Given the description of an element on the screen output the (x, y) to click on. 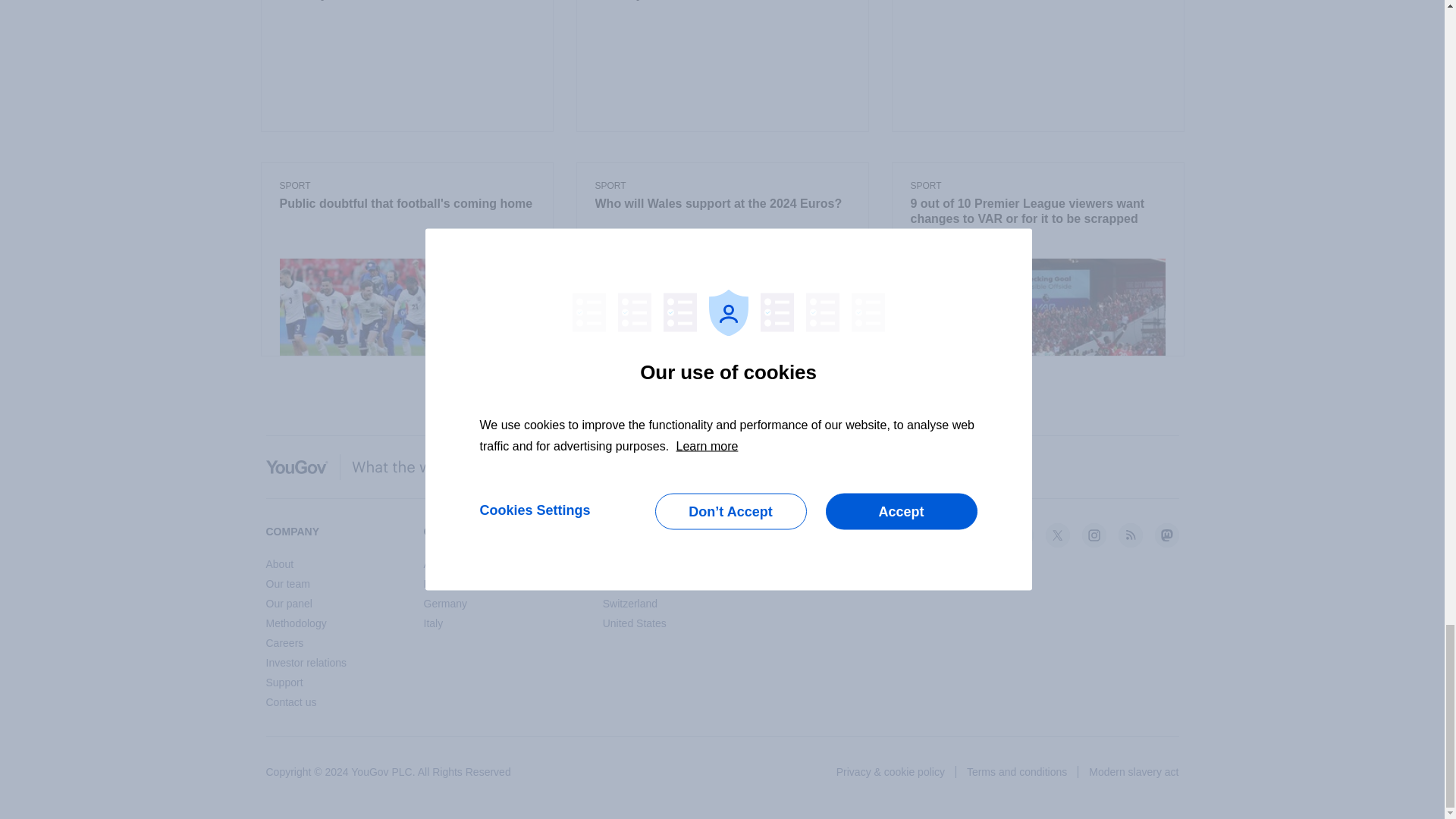
Who will Wales support at the 2024 Euros? (721, 204)
How Brits feel about car manufacturering industry (406, 2)
How Brits feel about the supermarket industry (721, 2)
Public doubtful that football's coming home (406, 204)
